Given the description of an element on the screen output the (x, y) to click on. 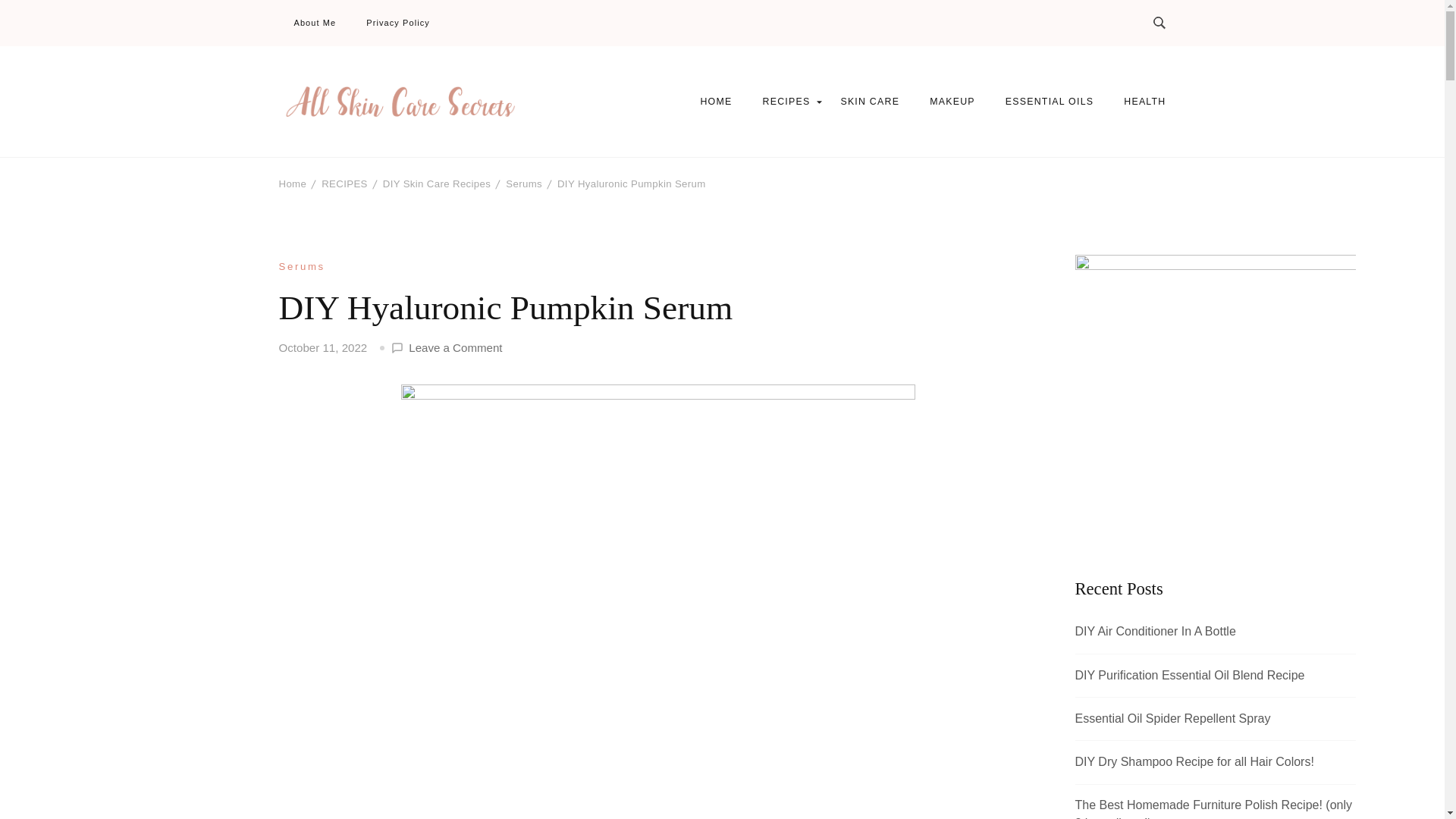
About Me (315, 22)
Privacy Policy (397, 22)
HOME (716, 101)
RECIPES (785, 101)
All Skin Care Secrets (382, 141)
